Given the description of an element on the screen output the (x, y) to click on. 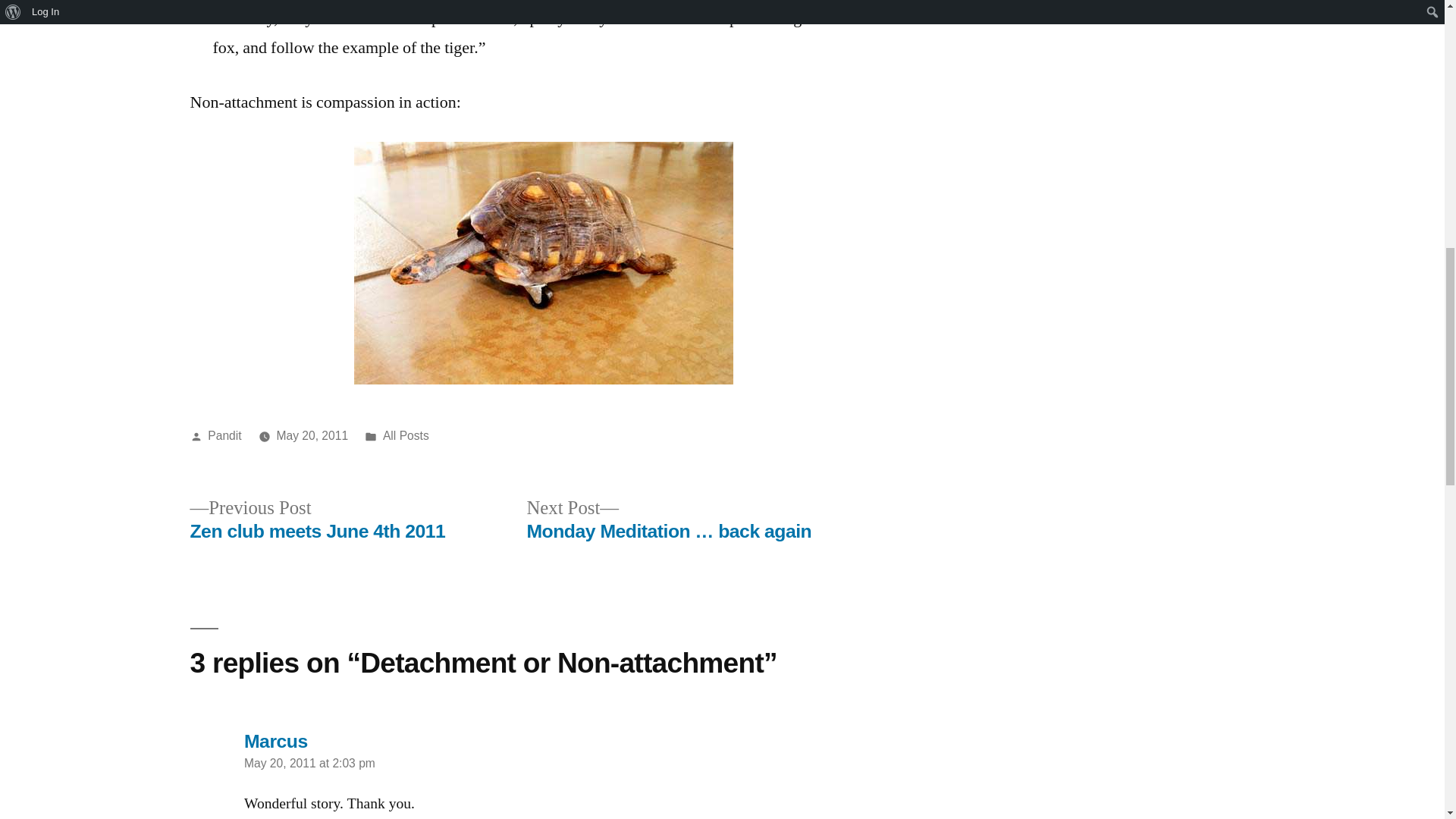
Pandit (224, 435)
compassion-tortoise (542, 262)
May 20, 2011 at 2:03 pm (309, 762)
All Posts (317, 520)
May 20, 2011 (570, 741)
